Given the description of an element on the screen output the (x, y) to click on. 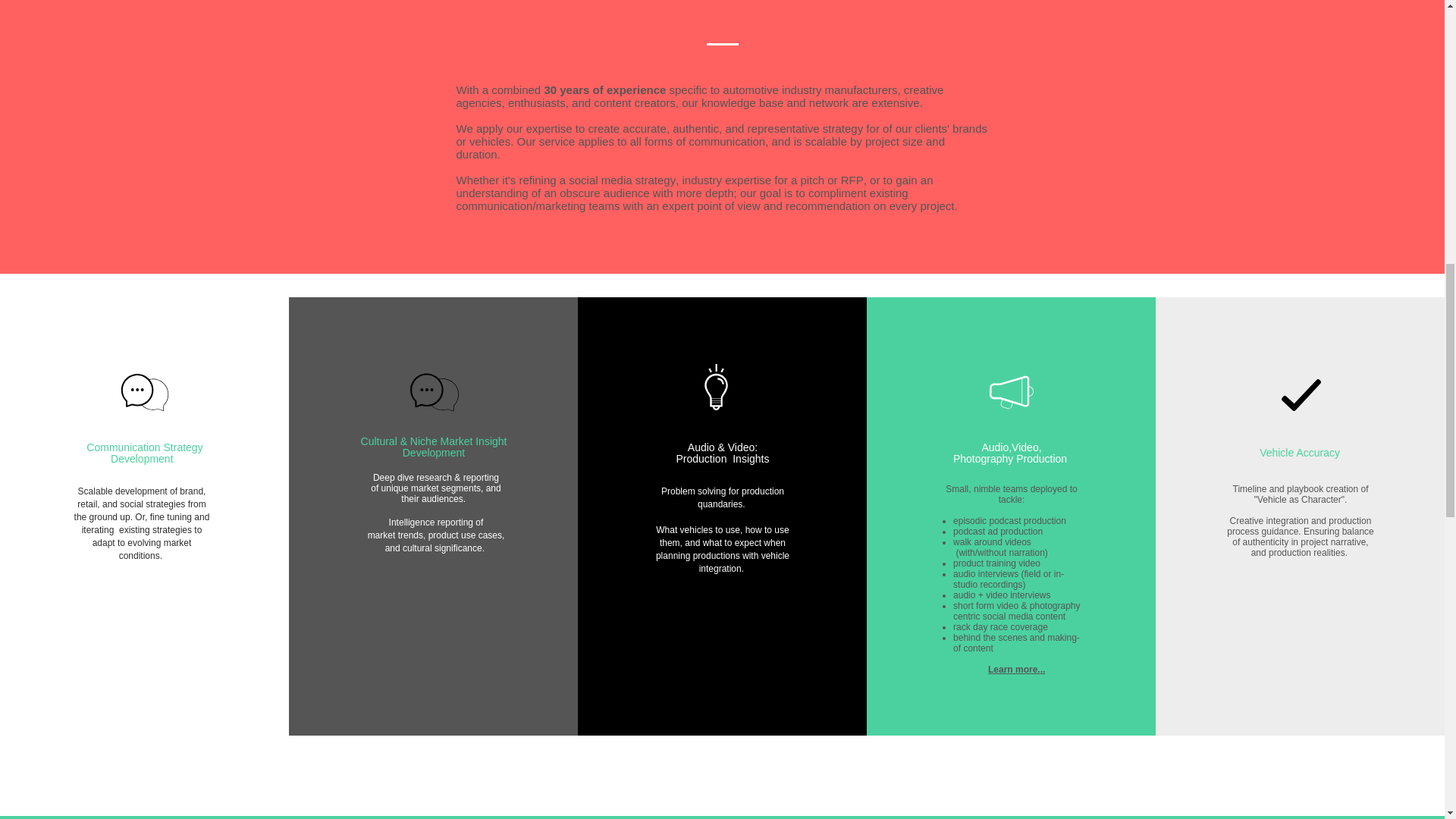
Learn more... (1016, 669)
